Given the description of an element on the screen output the (x, y) to click on. 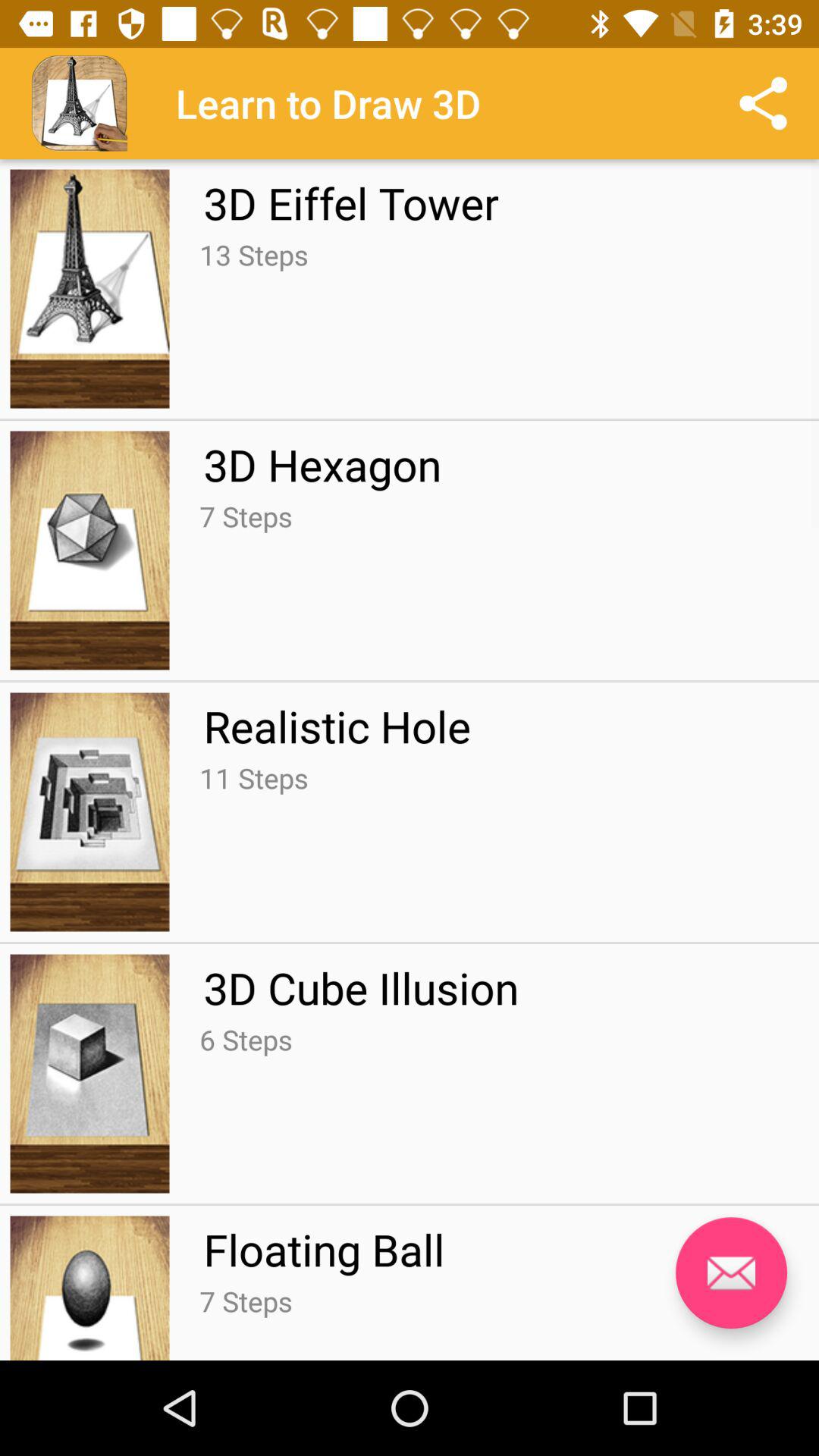
click the app to the right of the floating ball icon (731, 1272)
